Given the description of an element on the screen output the (x, y) to click on. 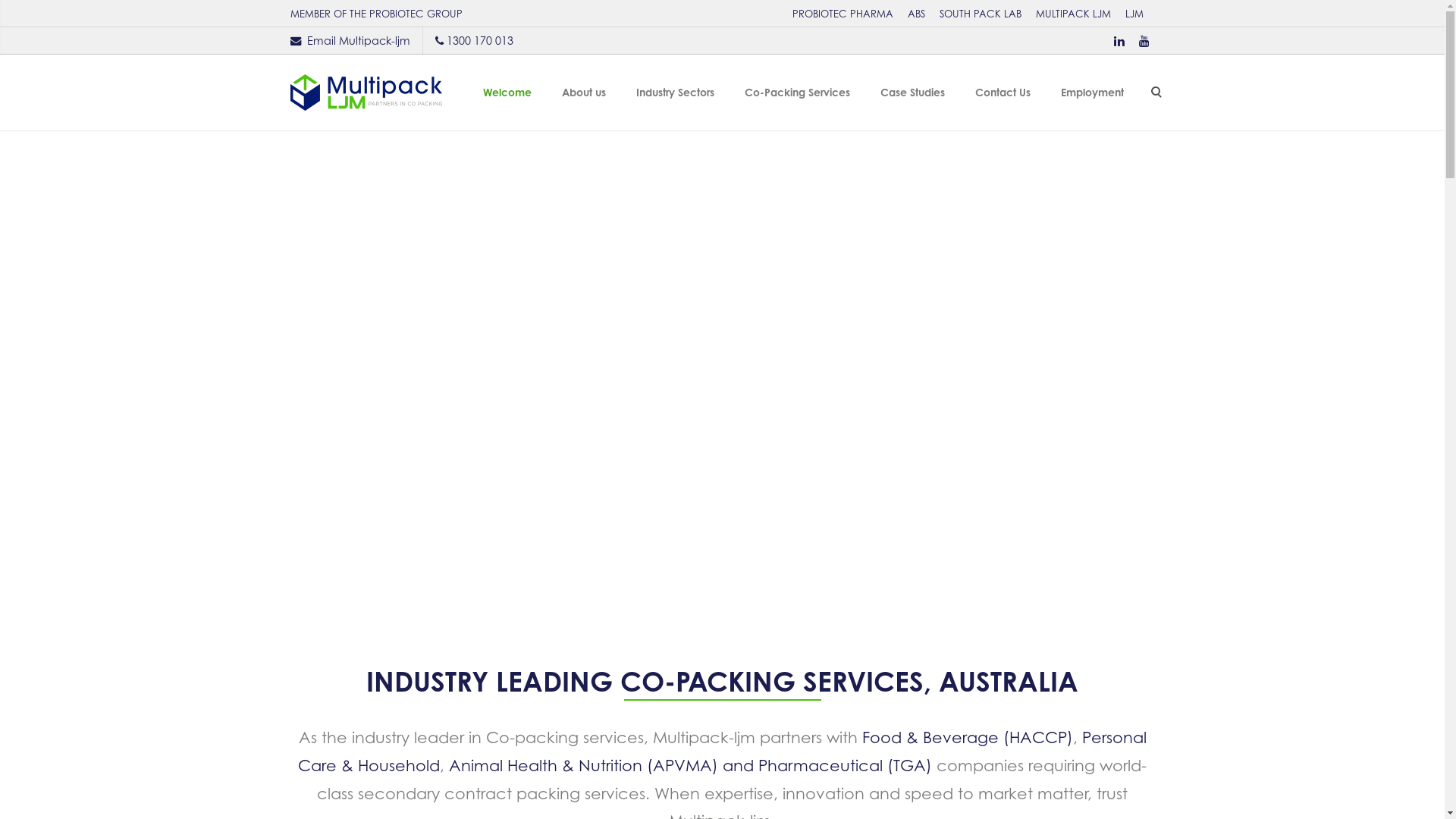
LJM Element type: text (1134, 13)
Animal Health & Nutrition (APVMA) and Pharmaceutical (TGA) Element type: text (689, 765)
Personal Care & Household Element type: text (722, 751)
Food & Beverage (HACCP) Element type: text (966, 736)
SOUTH PACK LAB Element type: text (979, 13)
Email Multipack-ljm Element type: text (357, 40)
PROBIOTEC PHARMA Element type: text (841, 13)
MEMBER OF THE PROBIOTEC GROUP Element type: text (375, 13)
About us Element type: text (583, 92)
Employment Element type: text (1091, 92)
Industry Sectors Element type: text (674, 92)
MULTIPACK LJM Element type: text (1072, 13)
Contact Us Element type: text (1002, 92)
Case Studies Element type: text (911, 92)
ABS Element type: text (915, 13)
Co-Packing Services Element type: text (797, 92)
Welcome Element type: text (506, 92)
1300 170 013 Element type: text (478, 40)
